Given the description of an element on the screen output the (x, y) to click on. 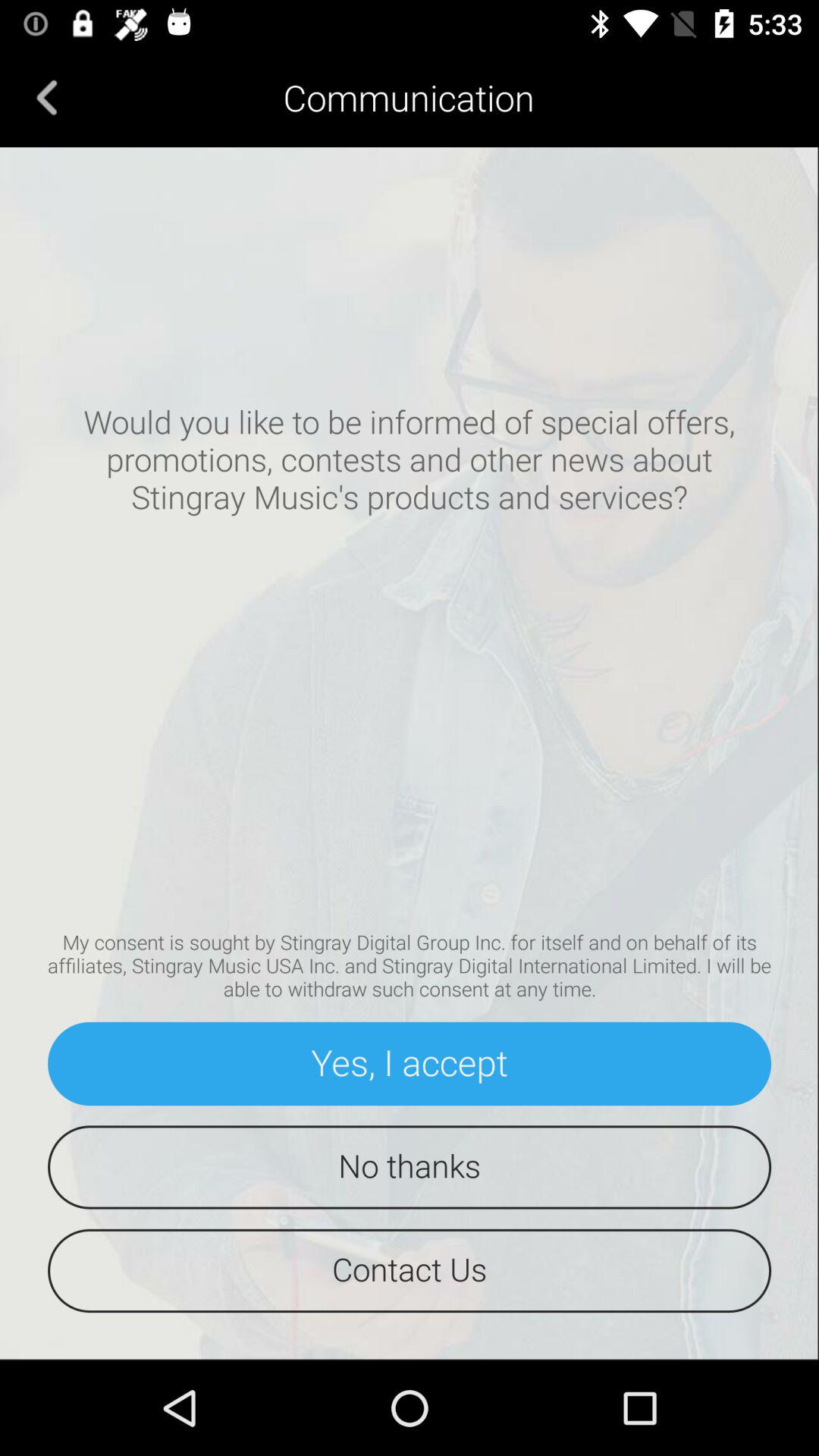
select item below yes, i accept item (409, 1167)
